Given the description of an element on the screen output the (x, y) to click on. 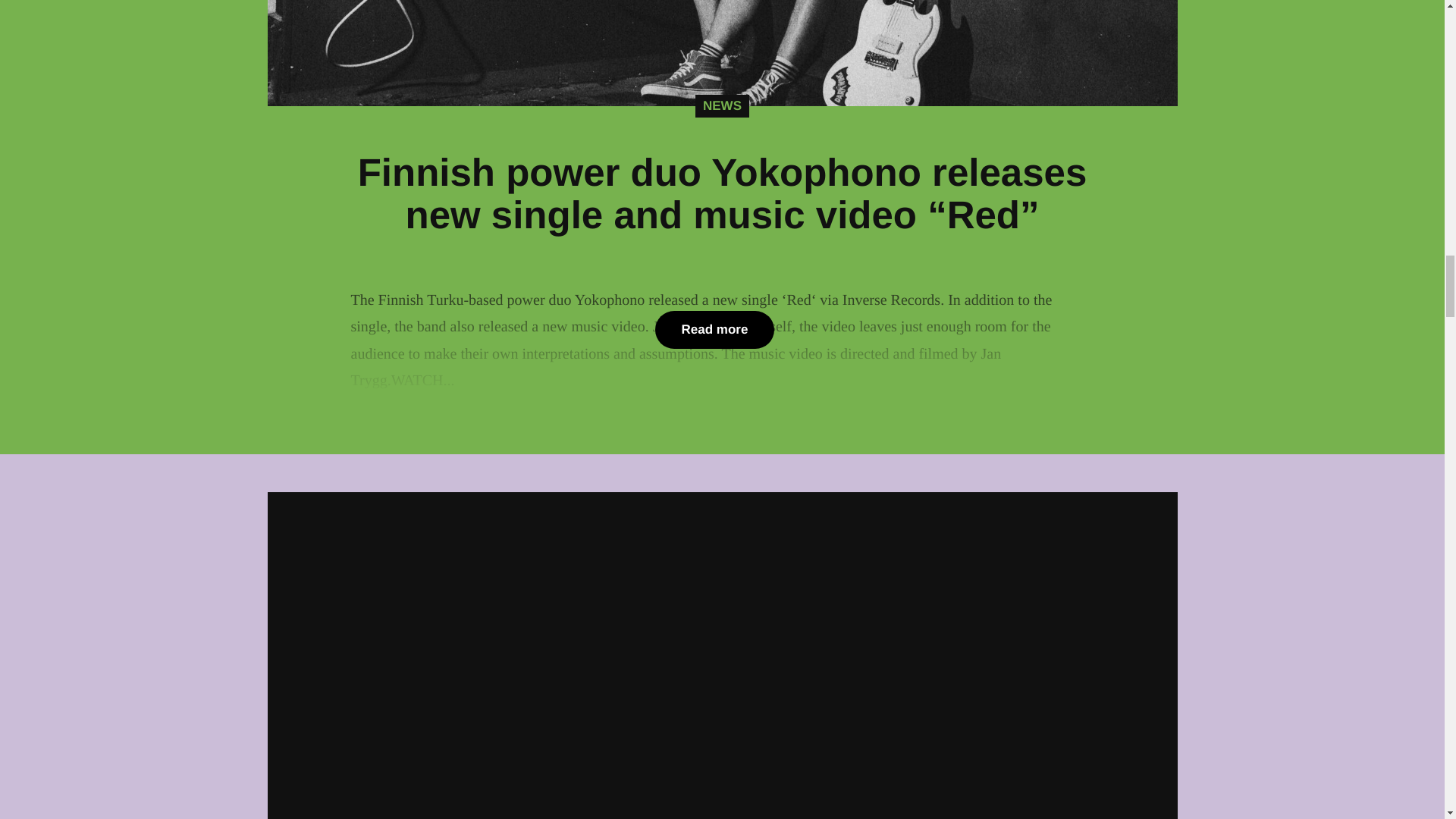
NEWS (722, 106)
